Given the description of an element on the screen output the (x, y) to click on. 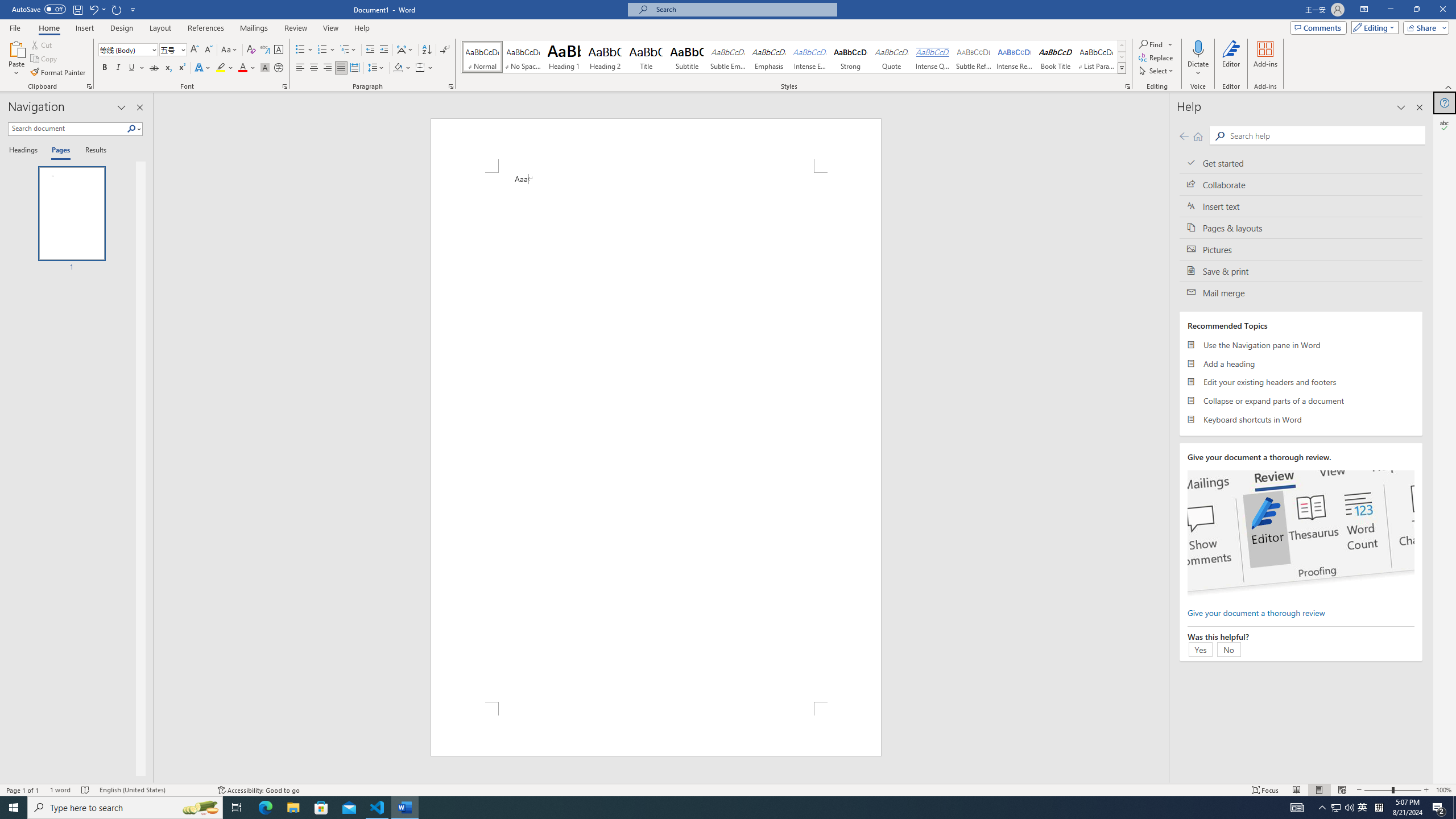
Spelling and Grammar Check No Errors (85, 790)
Font Color Red (241, 67)
Give your document a thorough review (1256, 611)
editor ui screenshot (1300, 533)
